Given the description of an element on the screen output the (x, y) to click on. 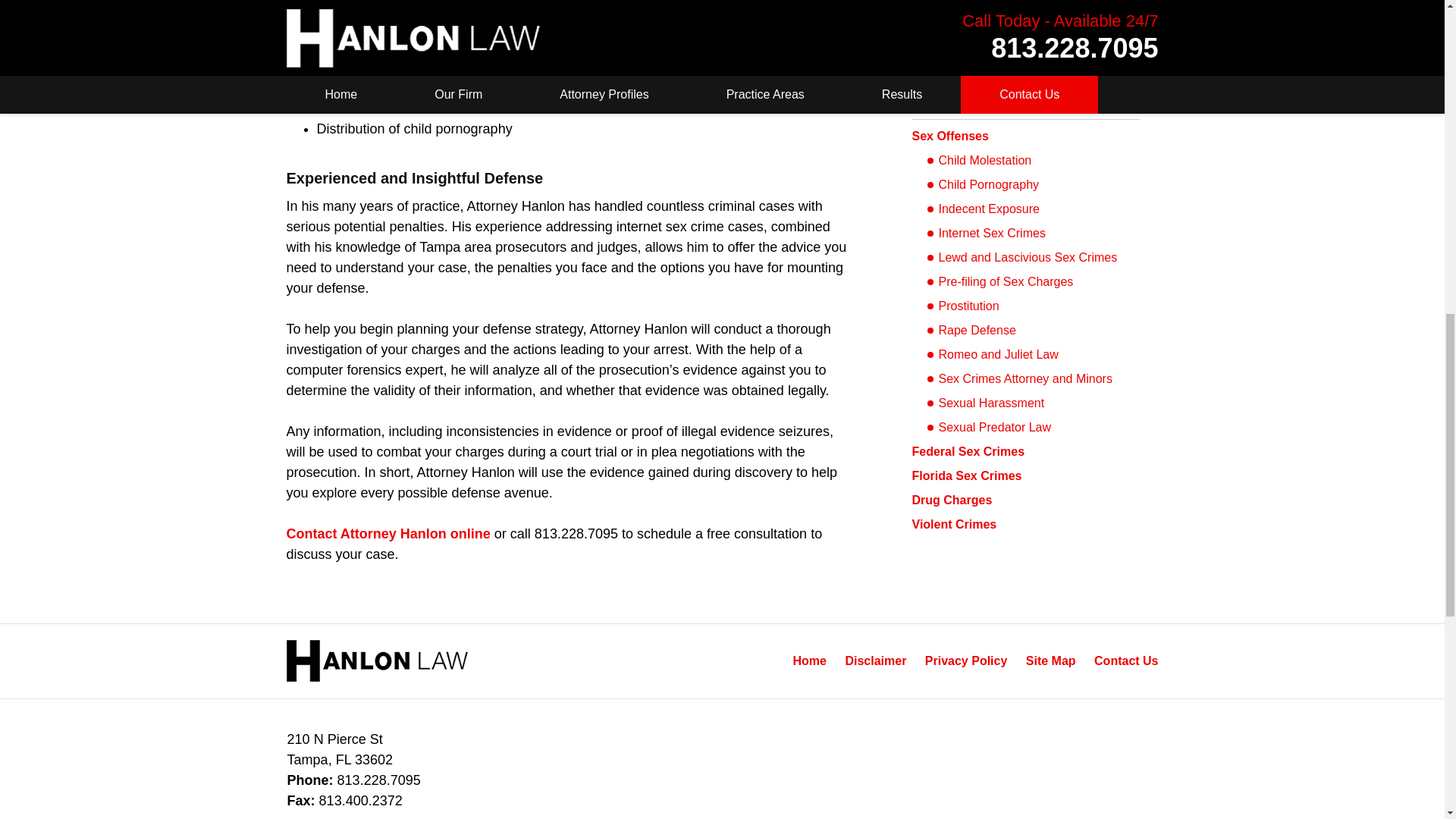
Rape Defense (970, 330)
Sex Offenses (949, 135)
Contact Attorney Hanlon online (388, 533)
Pre-filing of Sex Charges (999, 281)
Child Molestation (978, 160)
Indecent Exposure (982, 208)
Lewd and Lascivious Sex Crimes (1021, 257)
CONTACT US NOW (1024, 18)
Practice Areas (960, 103)
Internet Sex Crimes (985, 233)
Prostitution (962, 306)
Child Pornography (982, 185)
